Given the description of an element on the screen output the (x, y) to click on. 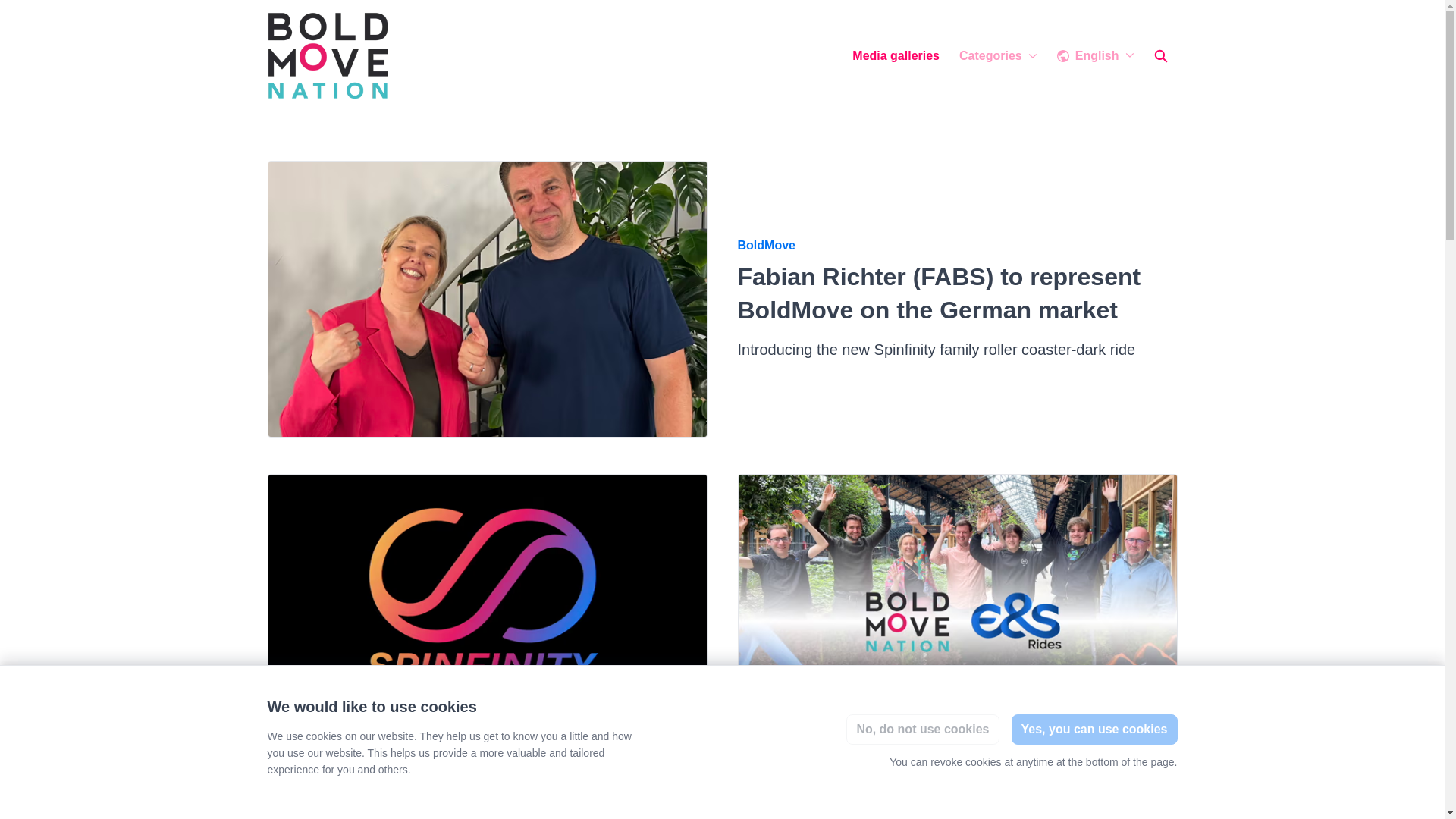
BOLDMOVE NATION (327, 55)
BoldMove (765, 773)
Media galleries (896, 55)
Categories (997, 55)
English (1095, 55)
Search (1159, 55)
BoldMove (765, 245)
Spinfinity Coaster (318, 773)
